Given the description of an element on the screen output the (x, y) to click on. 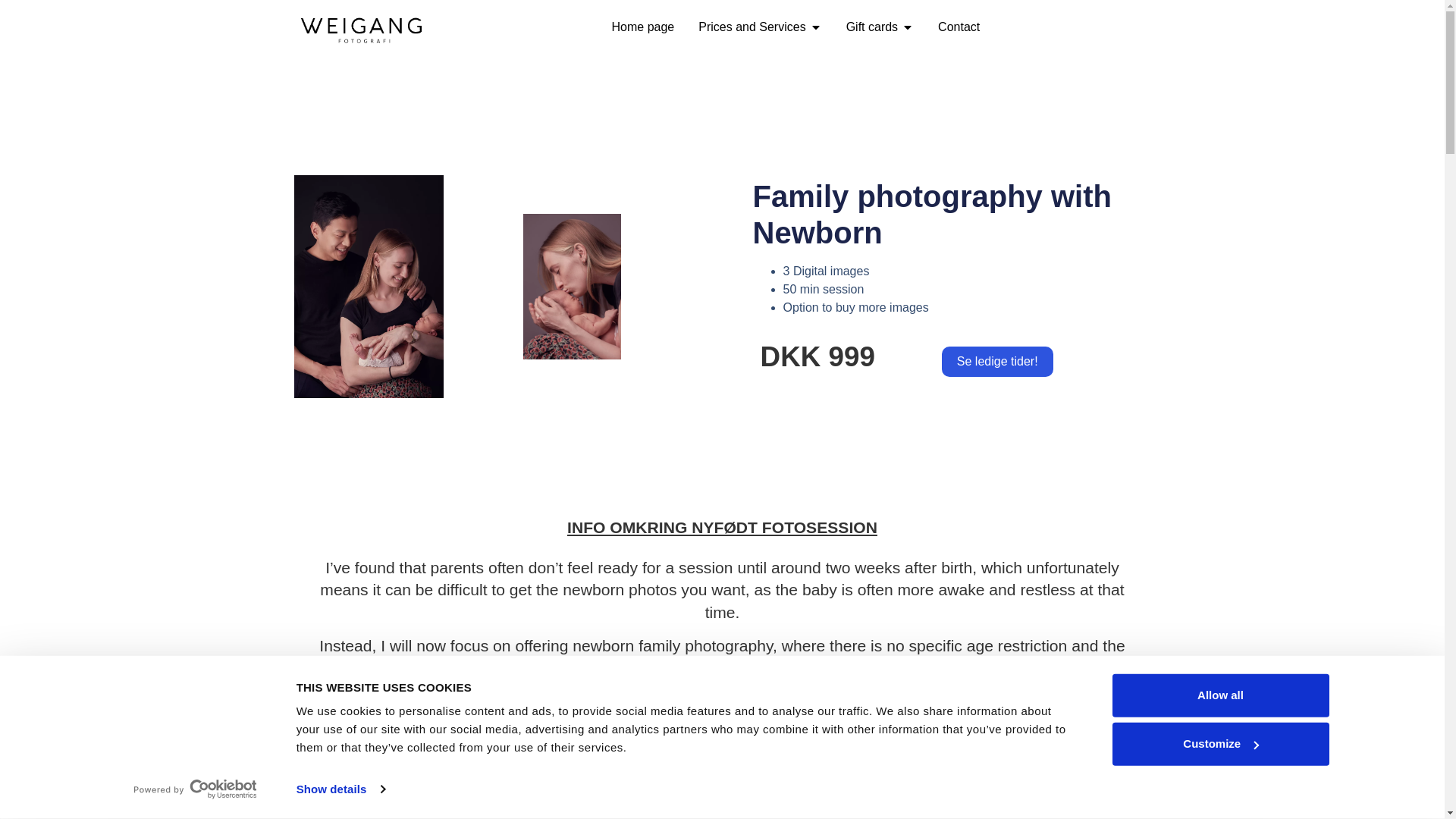
Show details (340, 789)
Allow all (1219, 695)
Customize (1219, 743)
